Given the description of an element on the screen output the (x, y) to click on. 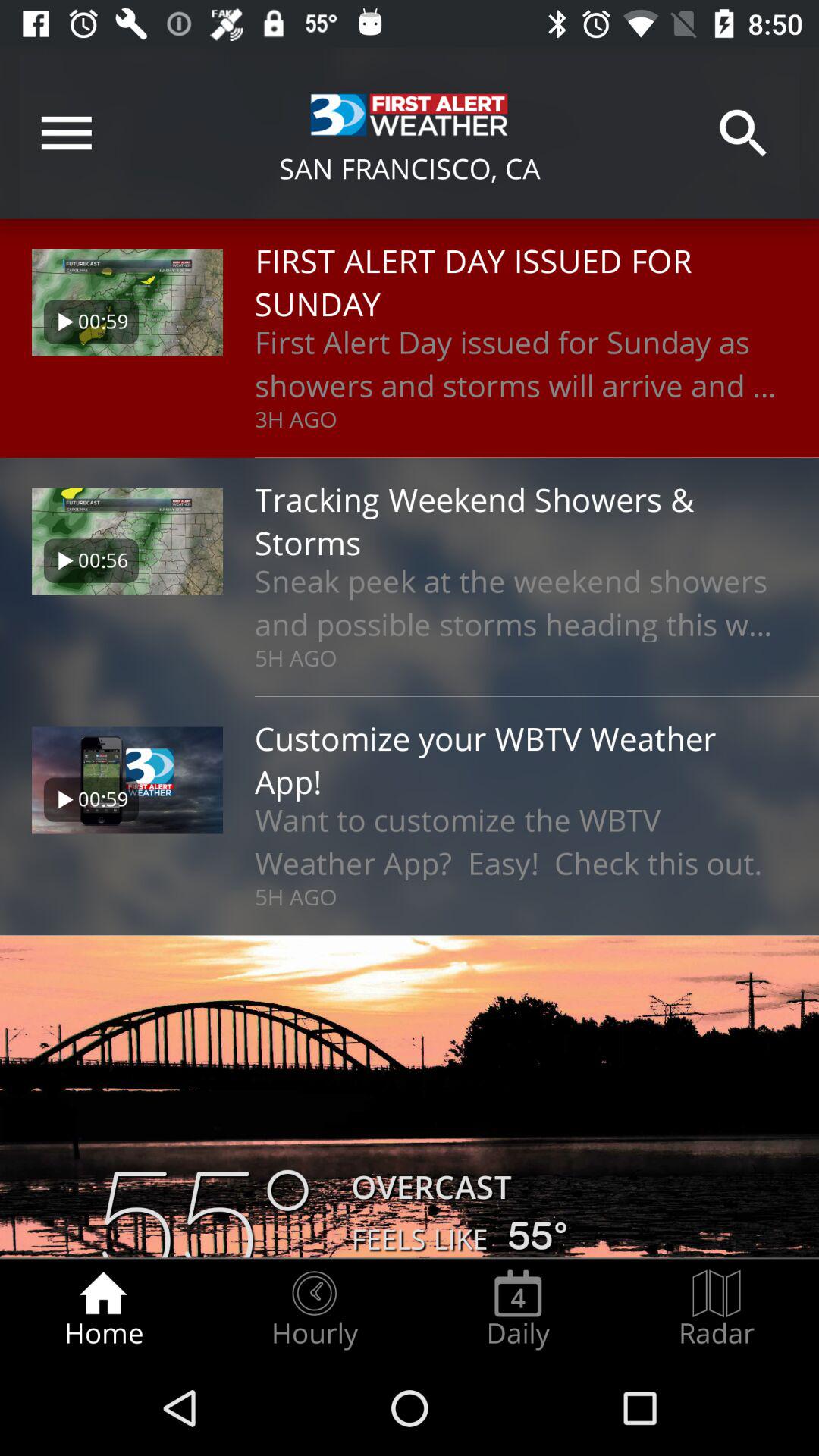
choose the item next to daily (716, 1309)
